Given the description of an element on the screen output the (x, y) to click on. 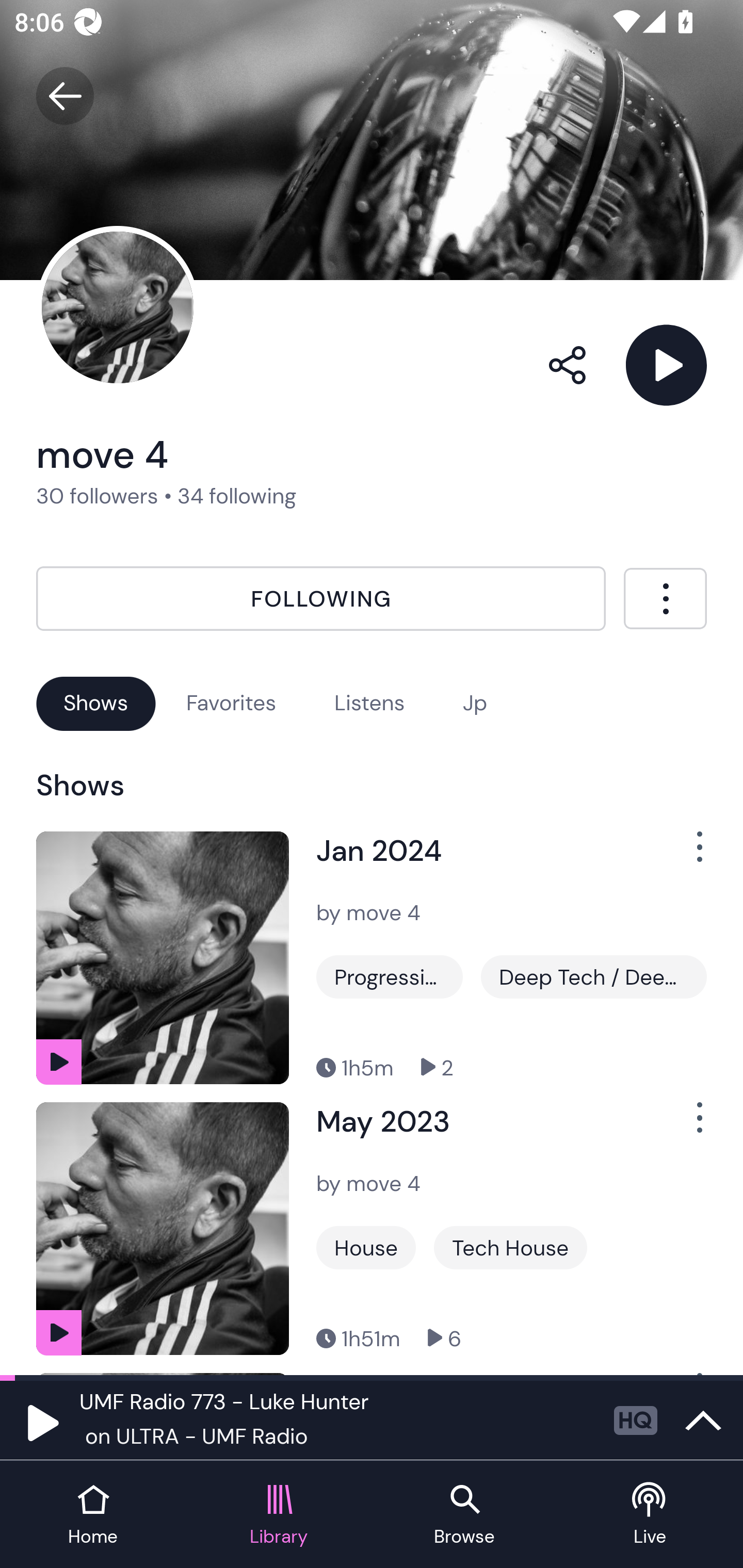
30 followers (97, 495)
34 following (236, 495)
Following FOLLOWING (320, 598)
More Menu (665, 597)
Shows (95, 702)
Favorites (231, 702)
Listens (369, 702)
Jp (474, 702)
Show Options Menu Button (688, 854)
Progressive House (389, 976)
Deep Tech / Deep Tech House (593, 976)
Show Options Menu Button (688, 1125)
House (366, 1248)
Tech House (509, 1248)
Home tab Home (92, 1515)
Library tab Library (278, 1515)
Browse tab Browse (464, 1515)
Live tab Live (650, 1515)
